Given the description of an element on the screen output the (x, y) to click on. 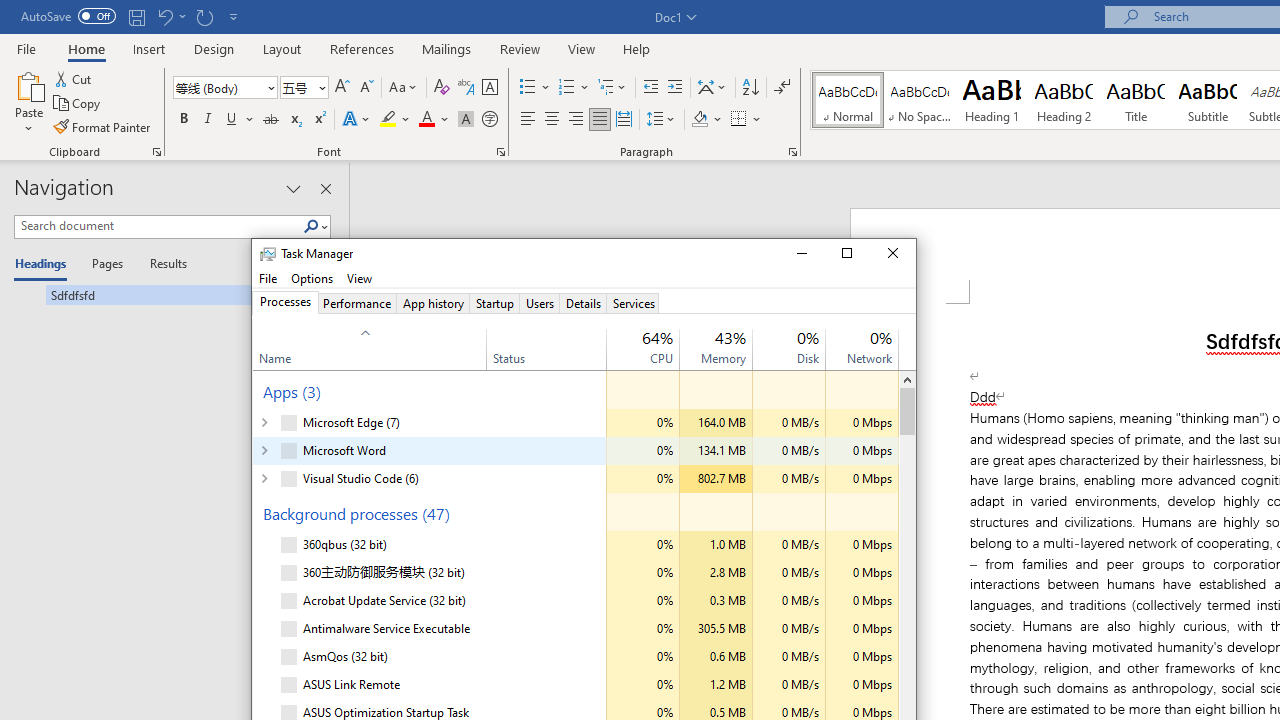
Font Color Red (426, 119)
Undo  (170, 15)
Line up (907, 379)
